Given the description of an element on the screen output the (x, y) to click on. 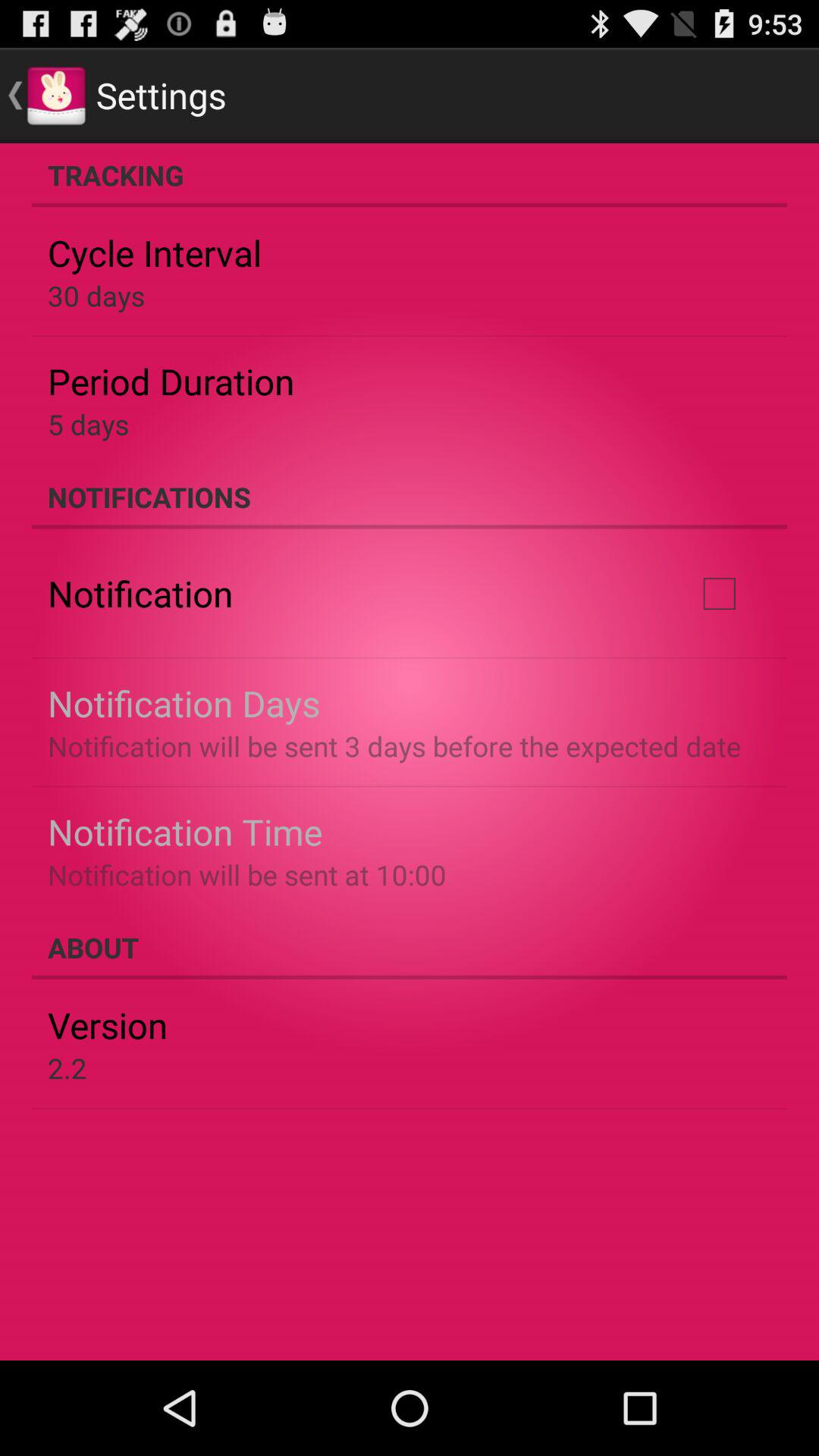
open icon above 30 days app (154, 252)
